Given the description of an element on the screen output the (x, y) to click on. 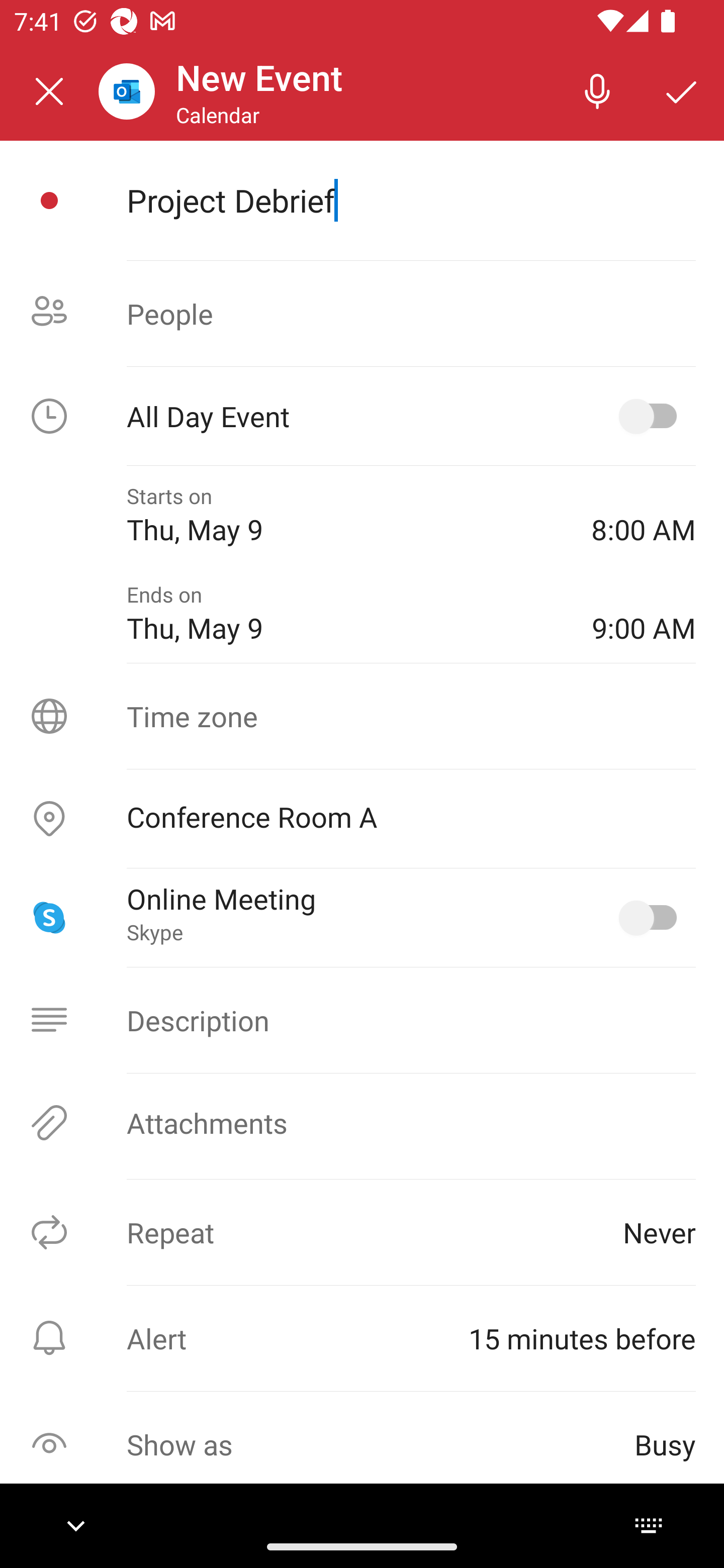
Close (49, 91)
Save (681, 90)
Project Debrief (410, 200)
Event icon picker (48, 200)
People (362, 313)
All Day Event (362, 415)
Starts on Thu, May 9 (344, 514)
8:00 AM (643, 514)
Ends on Thu, May 9 (344, 613)
9:00 AM (643, 613)
Time zone (362, 715)
Location, Conference Room A Conference Room A (362, 818)
Online Meeting, Skype selected (651, 917)
Description (362, 1019)
Attachments (362, 1122)
Repeat Never (362, 1232)
Alert ⁨15 minutes before (362, 1337)
Show as Busy (362, 1444)
